Given the description of an element on the screen output the (x, y) to click on. 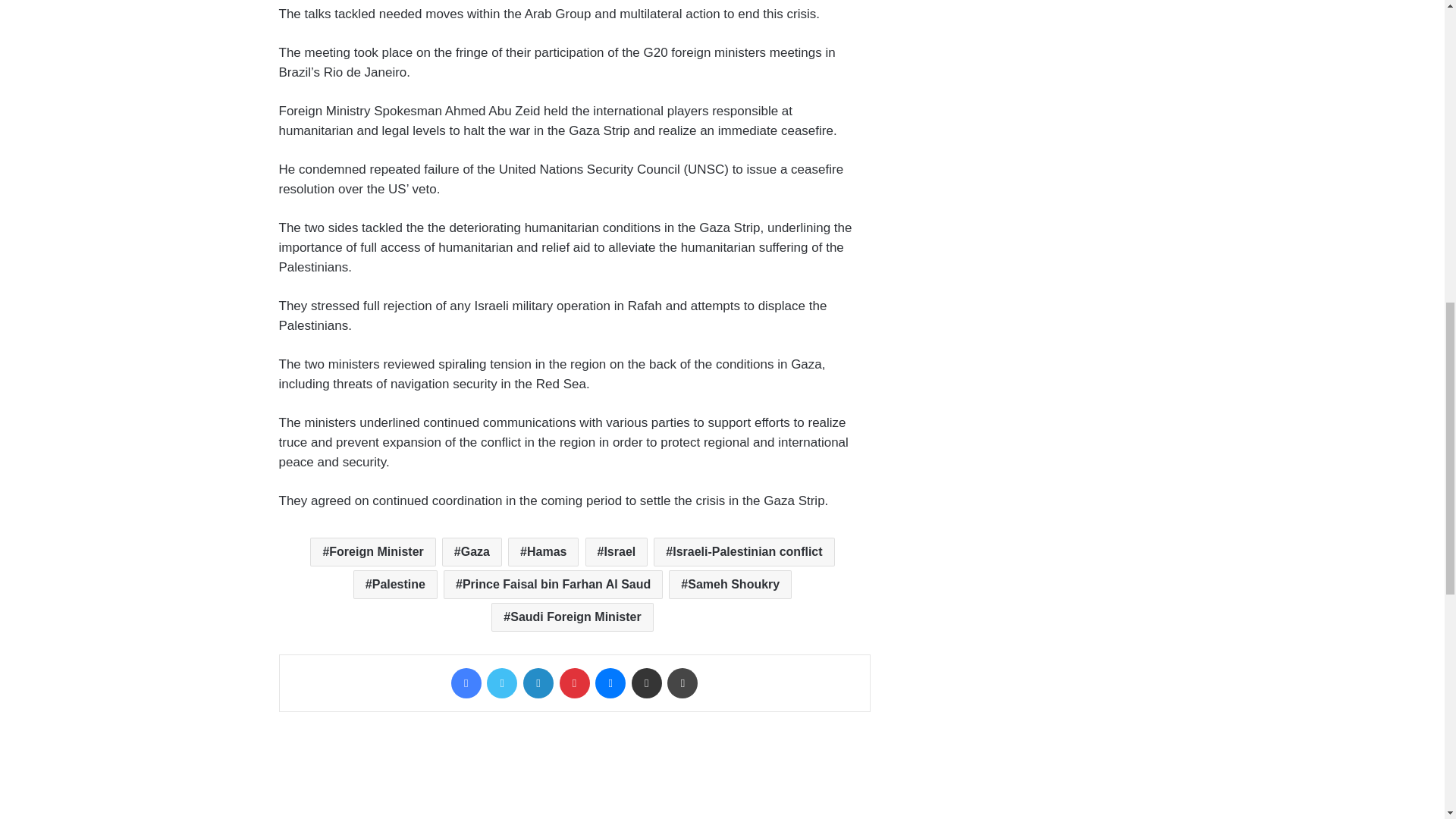
Prince Faisal bin Farhan Al Saud (553, 584)
Sameh Shoukry (730, 584)
Palestine (395, 584)
Messenger (610, 683)
Israel (616, 551)
Share via Email (646, 683)
Saudi Foreign Minister (572, 616)
Pinterest (574, 683)
LinkedIn (537, 683)
Facebook (466, 683)
